Given the description of an element on the screen output the (x, y) to click on. 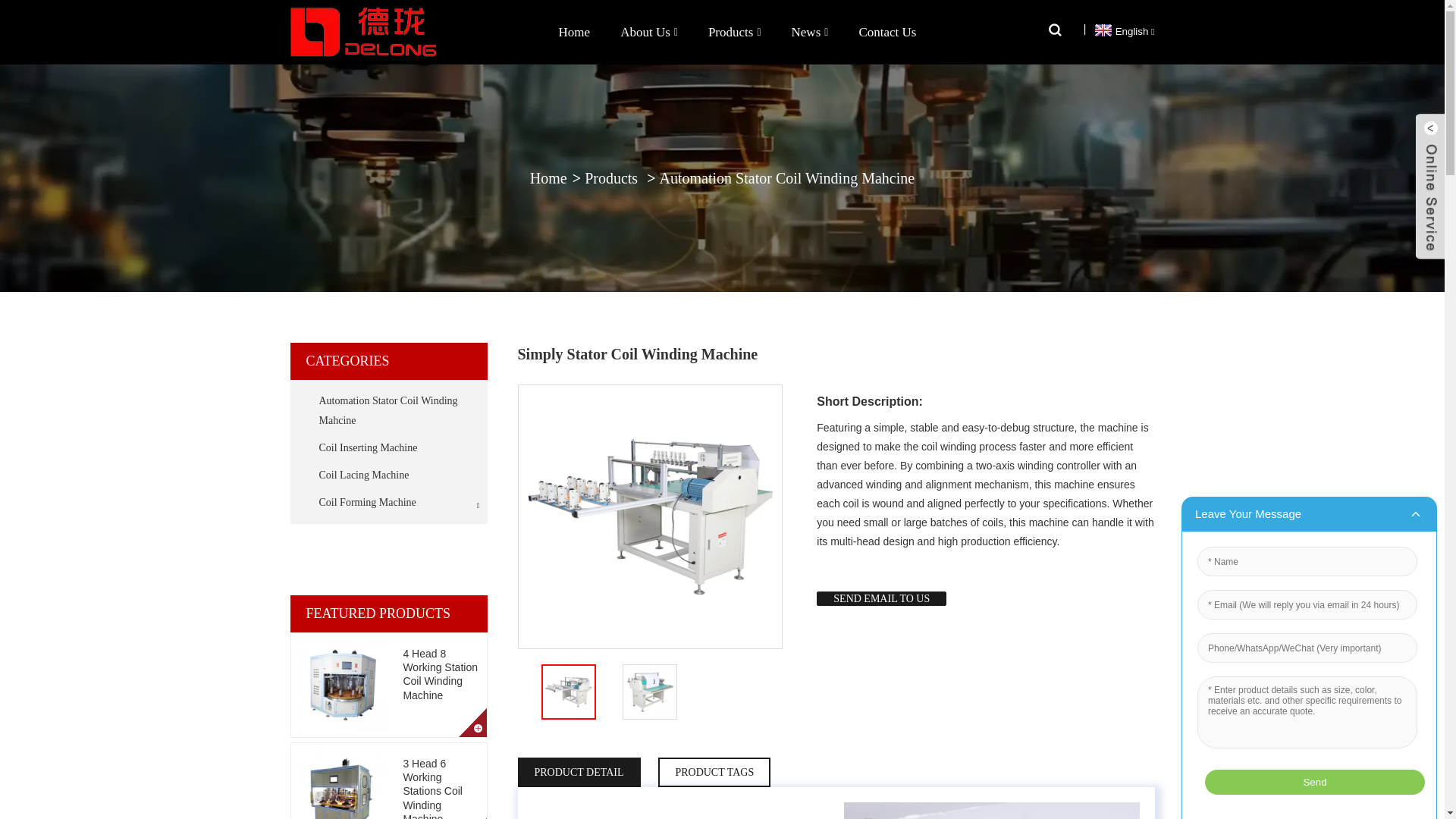
About Us (649, 31)
Contact Us (887, 31)
Home (574, 31)
Products (734, 31)
English (1122, 30)
News (810, 31)
